Given the description of an element on the screen output the (x, y) to click on. 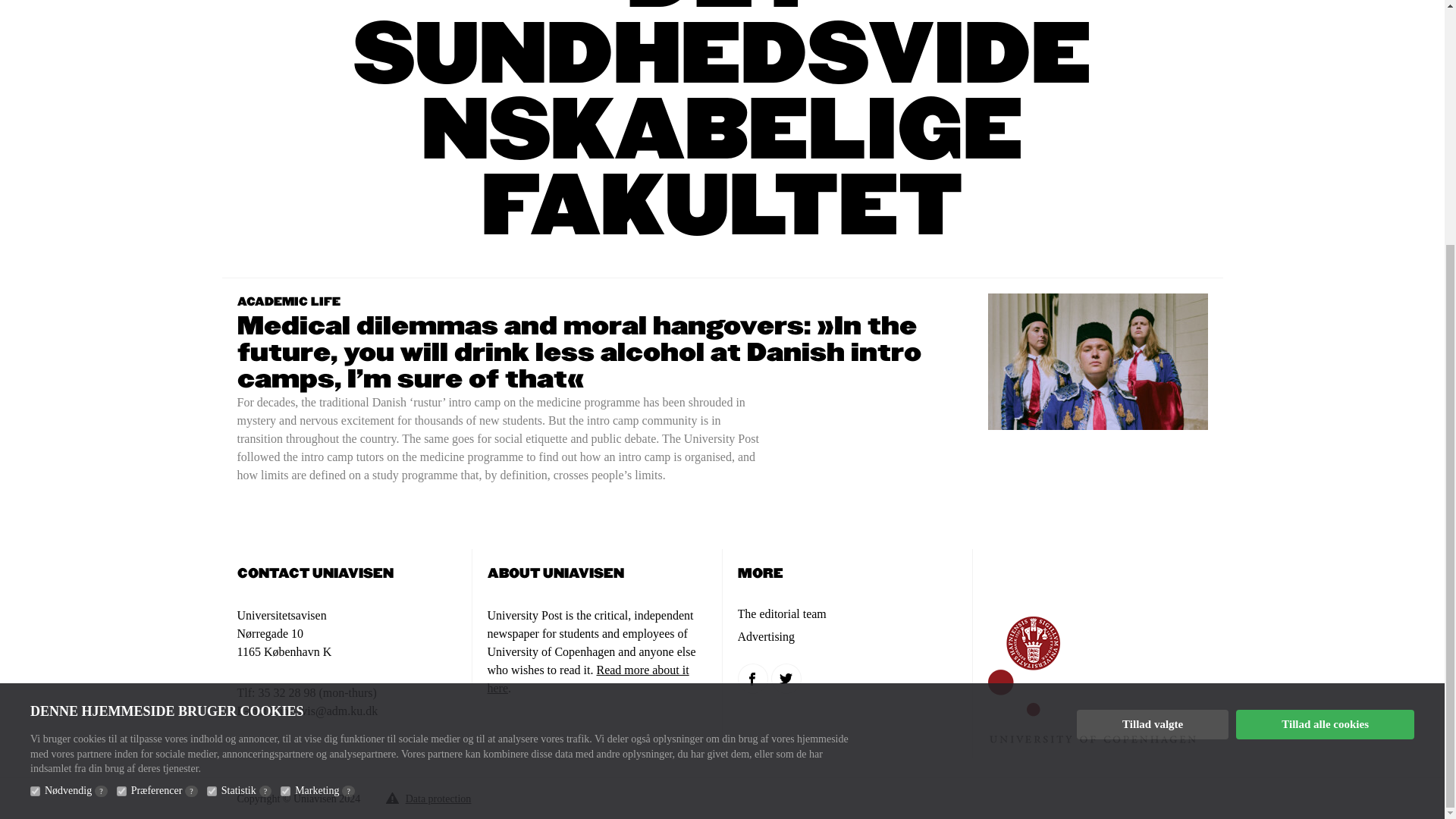
on (211, 451)
on (285, 451)
Tillad alle cookies (1324, 384)
on (121, 451)
on (35, 451)
Tillad valgte (1152, 384)
